Given the description of an element on the screen output the (x, y) to click on. 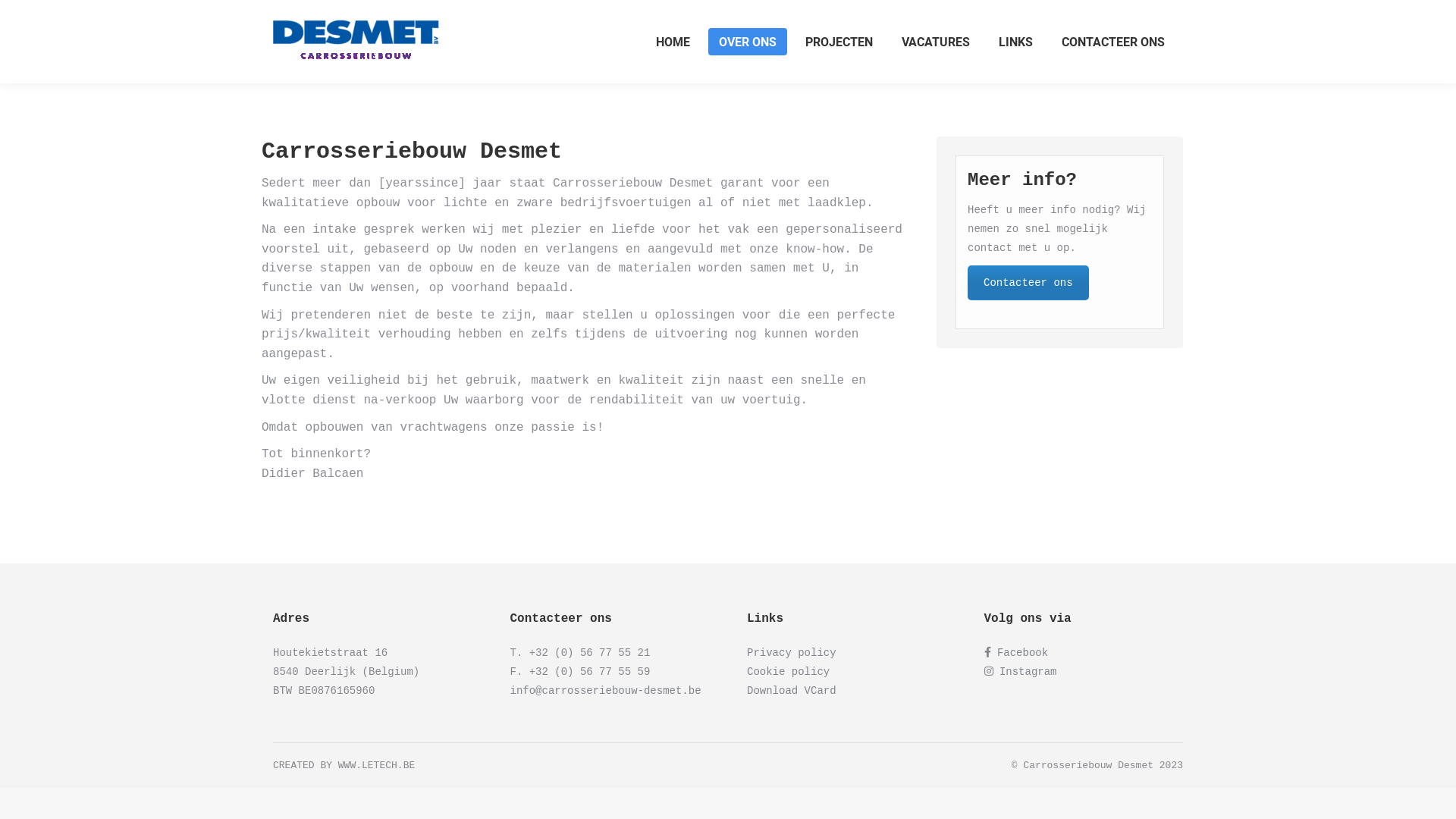
Facebook Element type: text (1019, 652)
LINKS Element type: text (1015, 41)
Download VCard Element type: text (791, 690)
Instagram Element type: text (1028, 671)
PROJECTEN Element type: text (838, 41)
info@carrosseriebouw-desmet.be Element type: text (604, 690)
HOME Element type: text (672, 41)
CONTACTEER ONS Element type: text (1113, 41)
VACATURES Element type: text (935, 41)
Contacteer ons Element type: text (1027, 282)
Privacy policy Element type: text (791, 652)
OVER ONS Element type: text (747, 41)
Cookie policy Element type: text (787, 671)
